Given the description of an element on the screen output the (x, y) to click on. 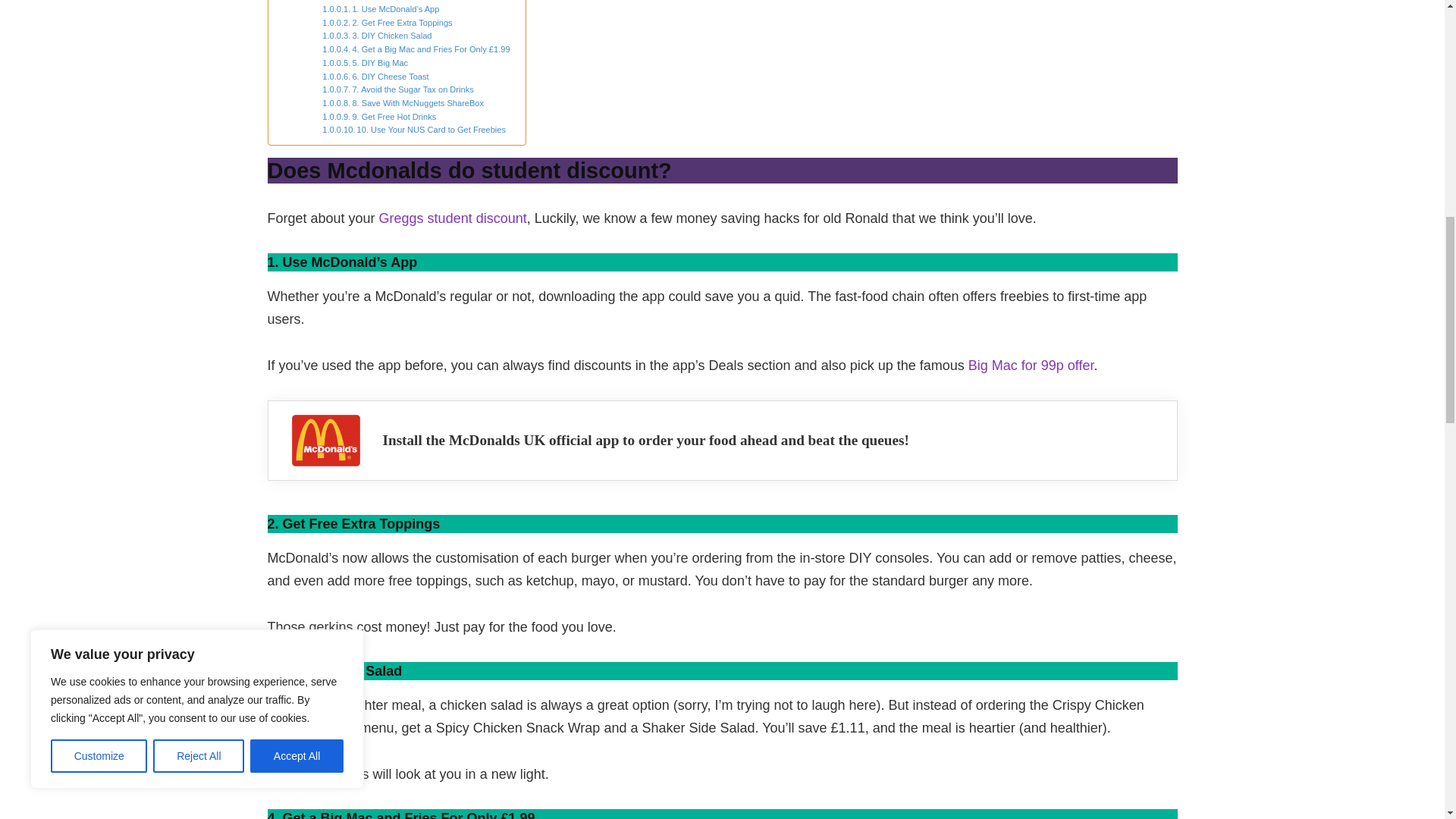
9. Get Free Hot Drinks (378, 117)
Does Mcdonalds do student discount? (379, 1)
Does Mcdonalds do student discount? (379, 1)
8. Save With McNuggets ShareBox (402, 103)
5. DIY Big Mac (364, 63)
6. DIY Cheese Toast (374, 77)
3. DIY Chicken Salad (375, 36)
7. Avoid the Sugar Tax on Drinks (397, 90)
10. Use Your NUS Card to Get Freebies (413, 130)
2. Get Free Extra Toppings (386, 23)
